Given the description of an element on the screen output the (x, y) to click on. 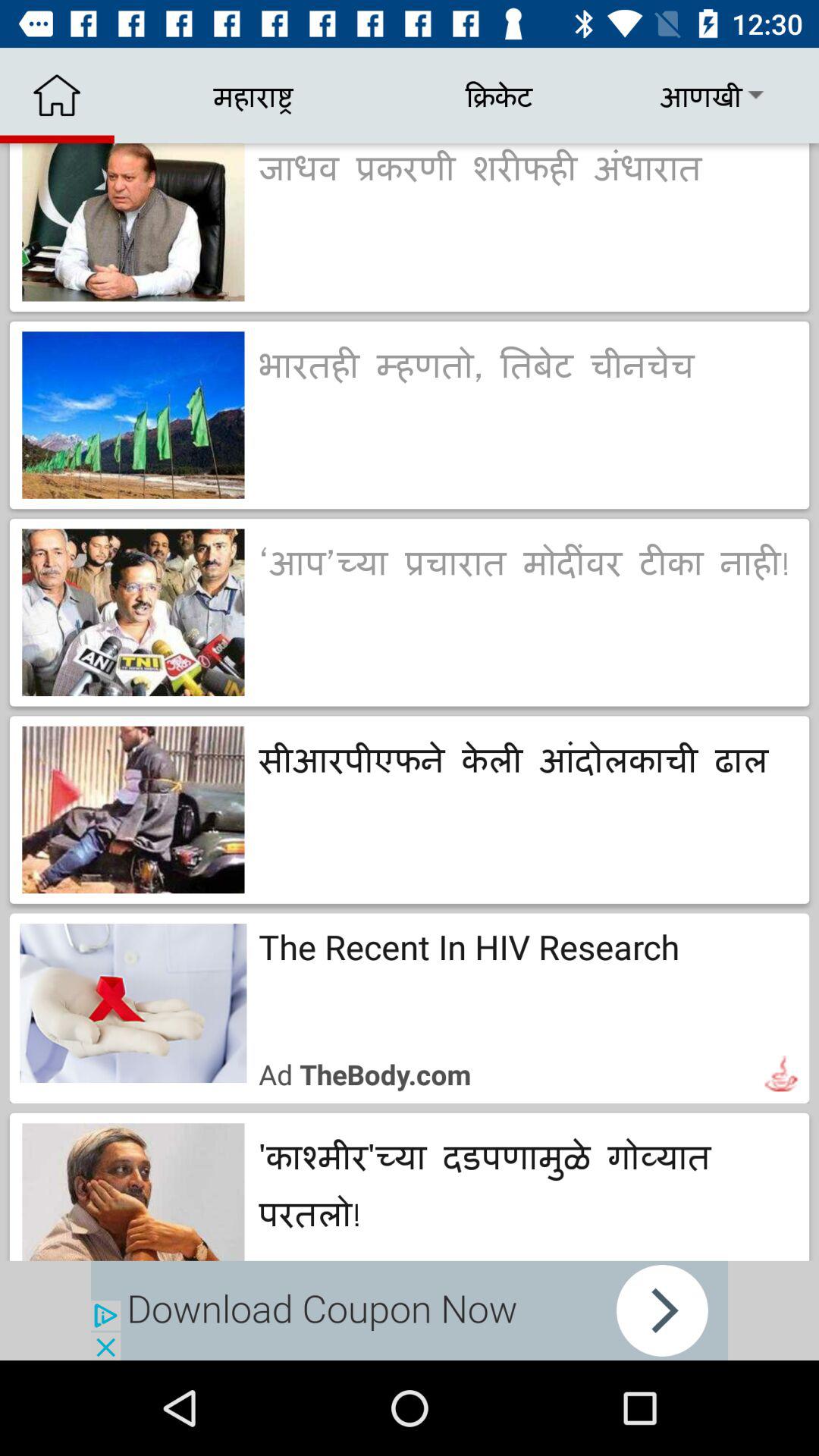
opens advertisement (409, 1310)
